Given the description of an element on the screen output the (x, y) to click on. 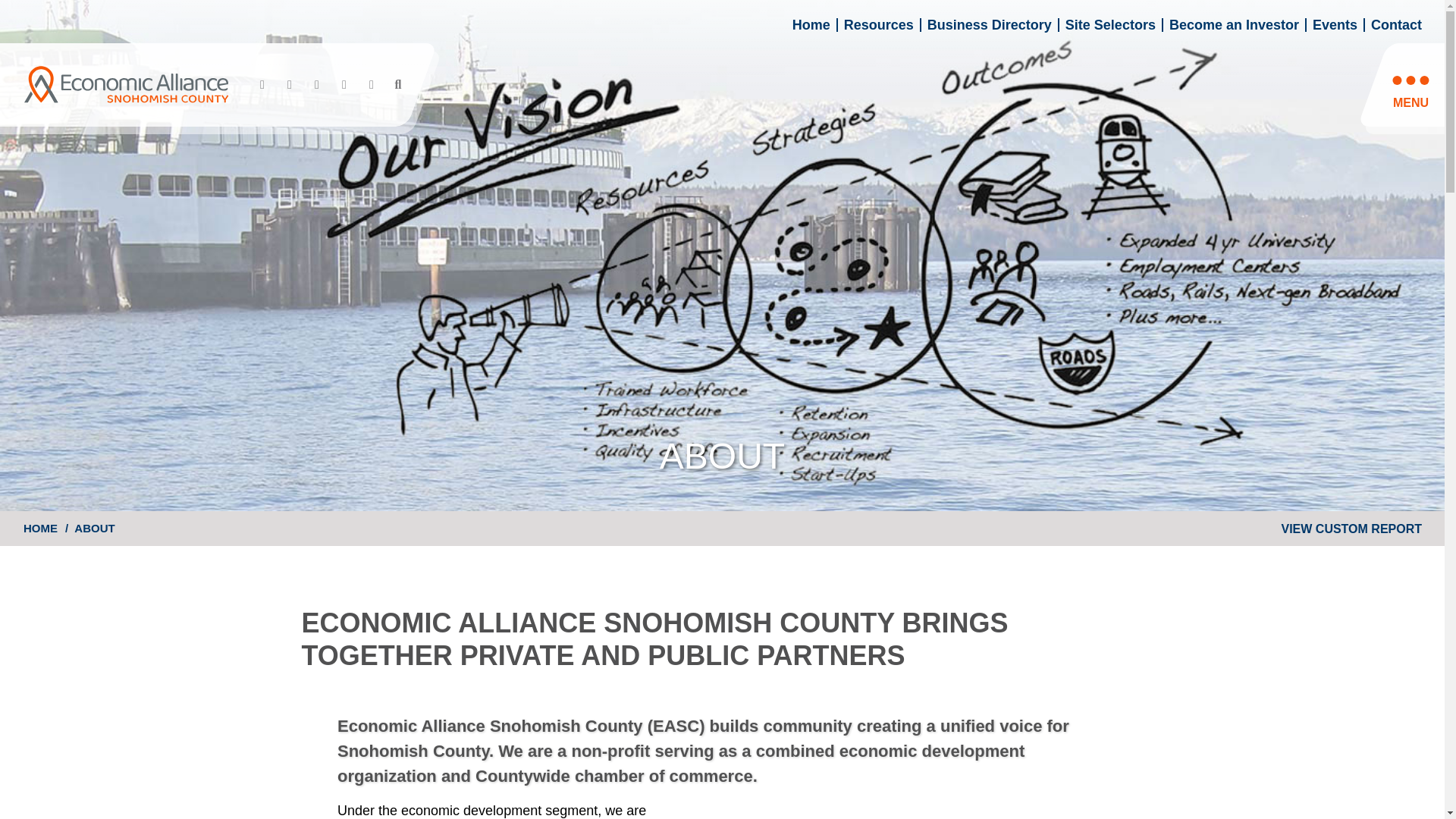
Business Directory (989, 24)
Toggle navigation (1406, 93)
Become an Investor (1233, 24)
Resources (879, 24)
Home (810, 24)
Events (1334, 24)
Site Selectors (1110, 24)
Contact (1396, 24)
